Given the description of an element on the screen output the (x, y) to click on. 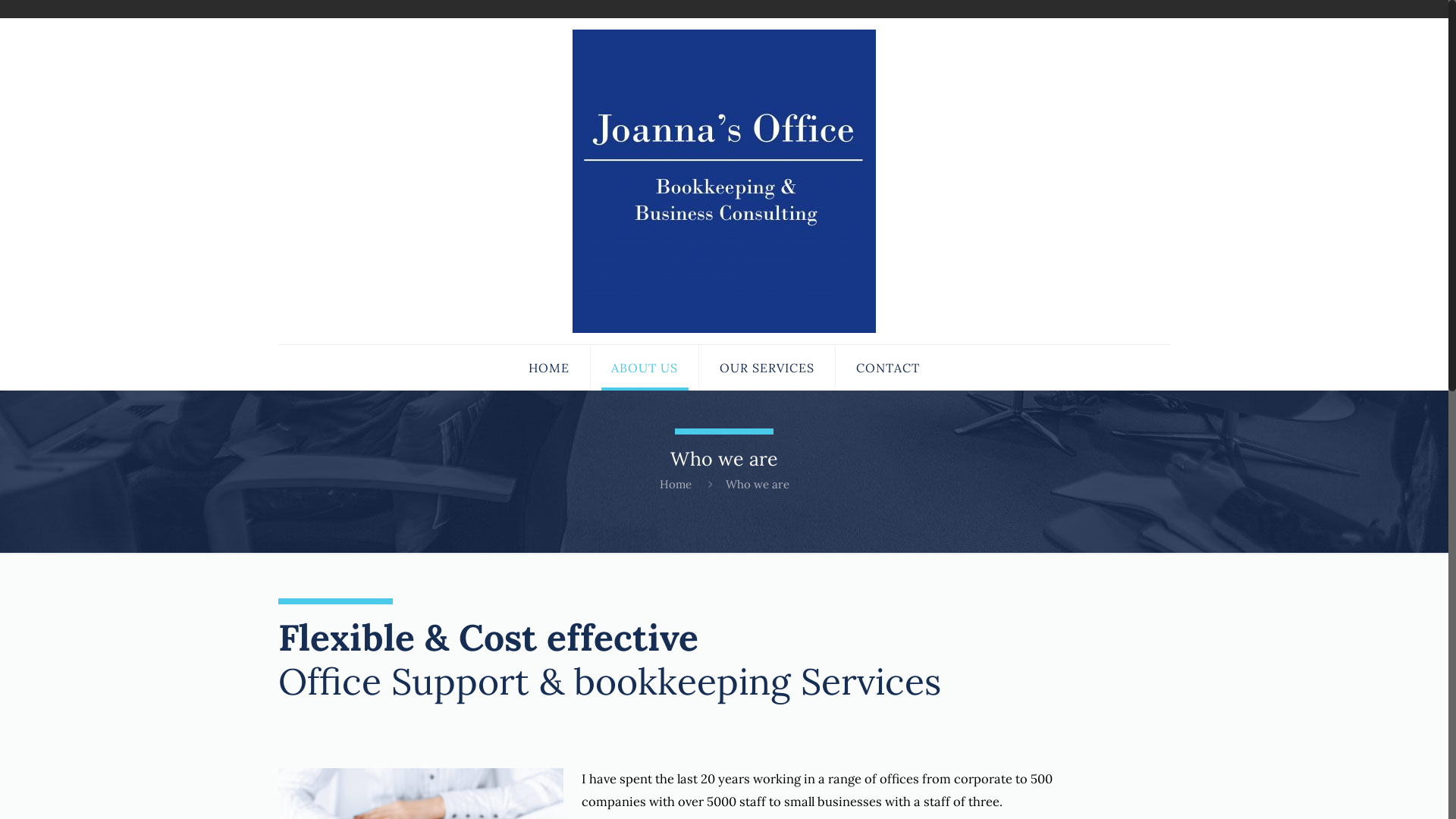
Joannas office Element type: hover (723, 181)
ABOUT US Element type: text (644, 367)
CONTACT Element type: text (887, 367)
Home Element type: text (675, 483)
OUR SERVICES Element type: text (767, 367)
HOME Element type: text (549, 367)
